Given the description of an element on the screen output the (x, y) to click on. 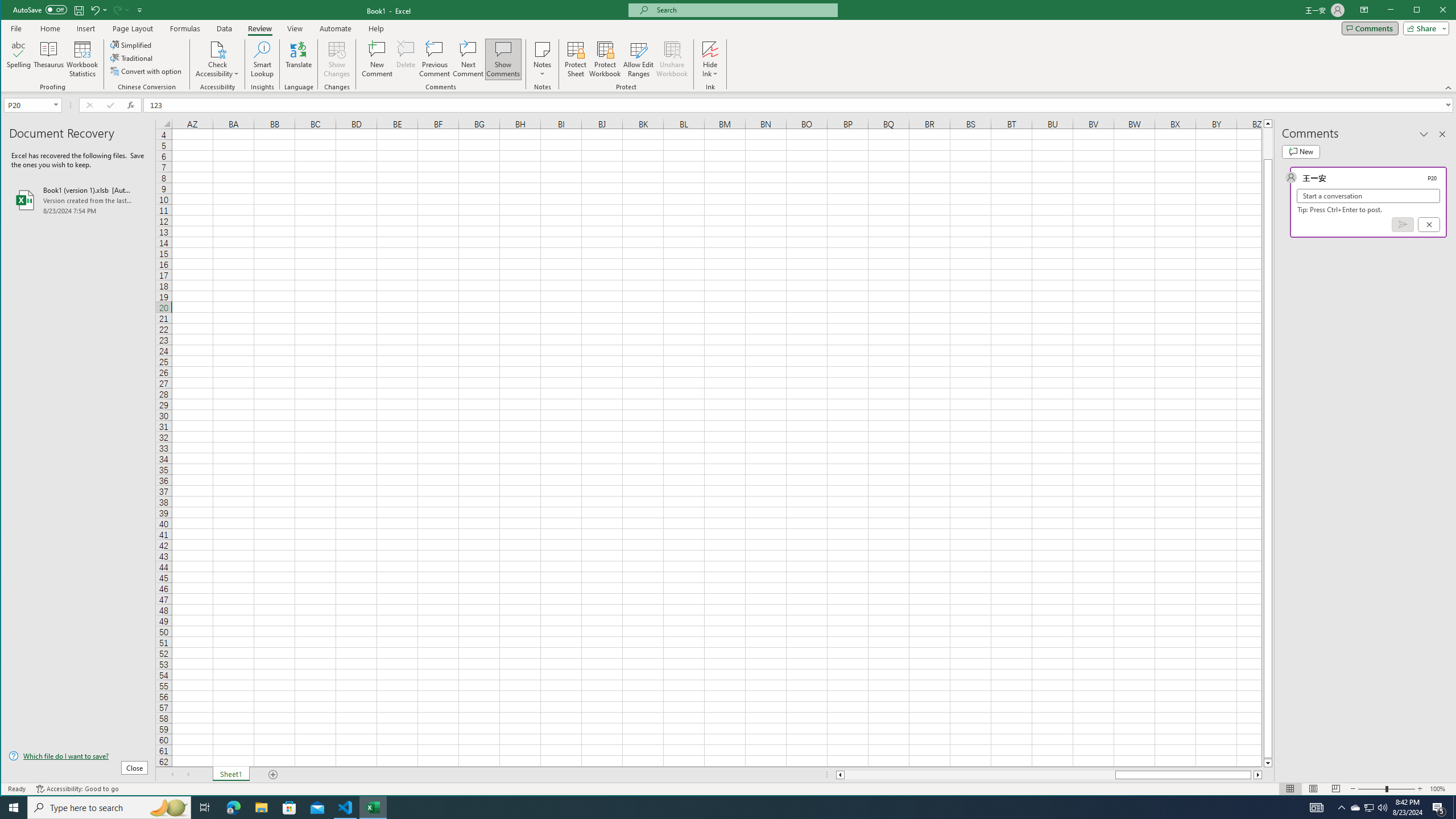
Convert with option (146, 70)
Thesaurus... (1355, 807)
New comment (1368, 807)
Microsoft Edge (48, 59)
Protect Workbook... (1300, 151)
